Given the description of an element on the screen output the (x, y) to click on. 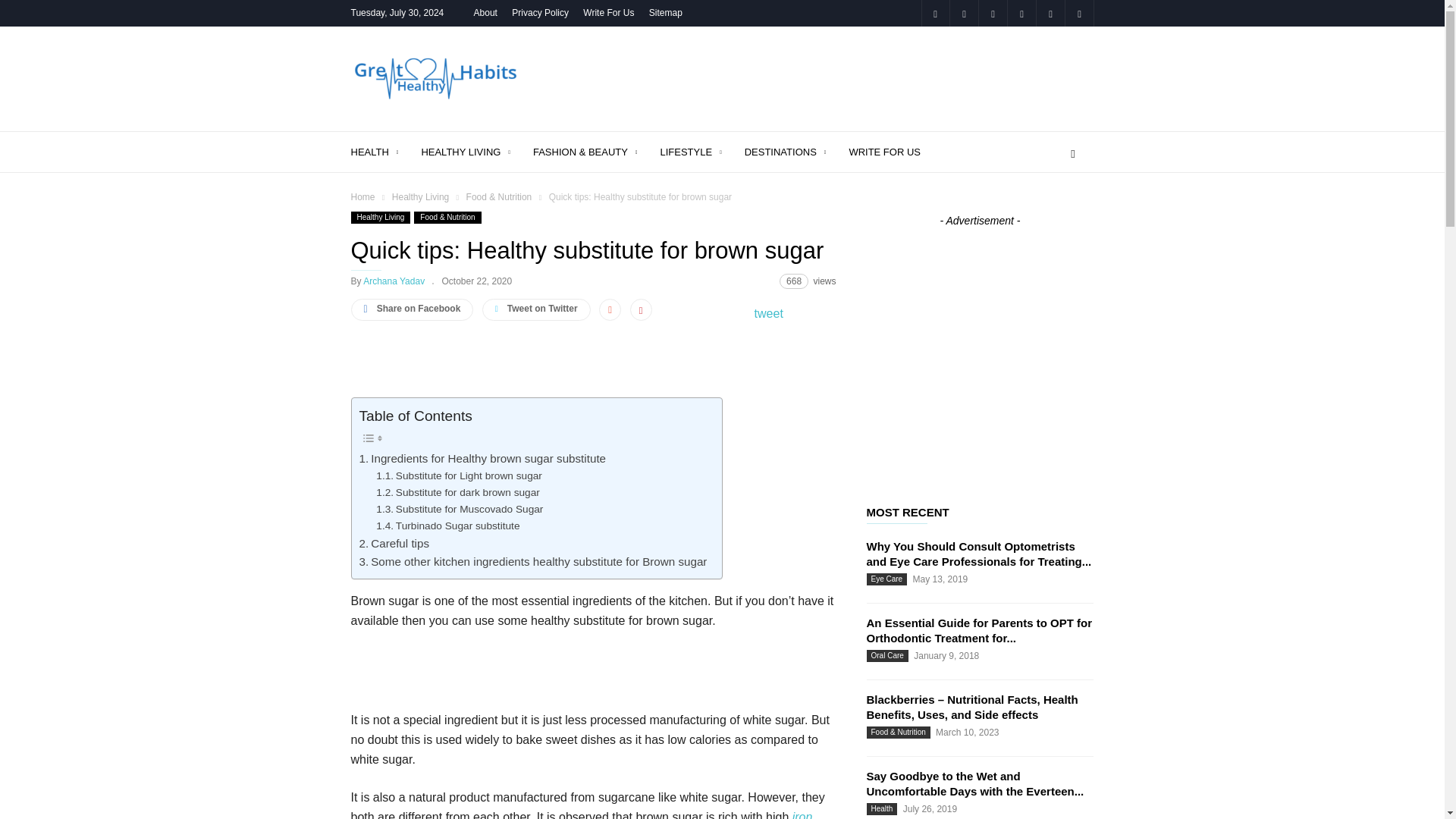
Mail (963, 13)
Pinterest (992, 13)
StumbleUpon (1049, 13)
Facebook (934, 13)
Privacy Policy (540, 12)
Advertisement (817, 79)
RSS (1021, 13)
About (485, 12)
Twitter (1078, 13)
